Given the description of an element on the screen output the (x, y) to click on. 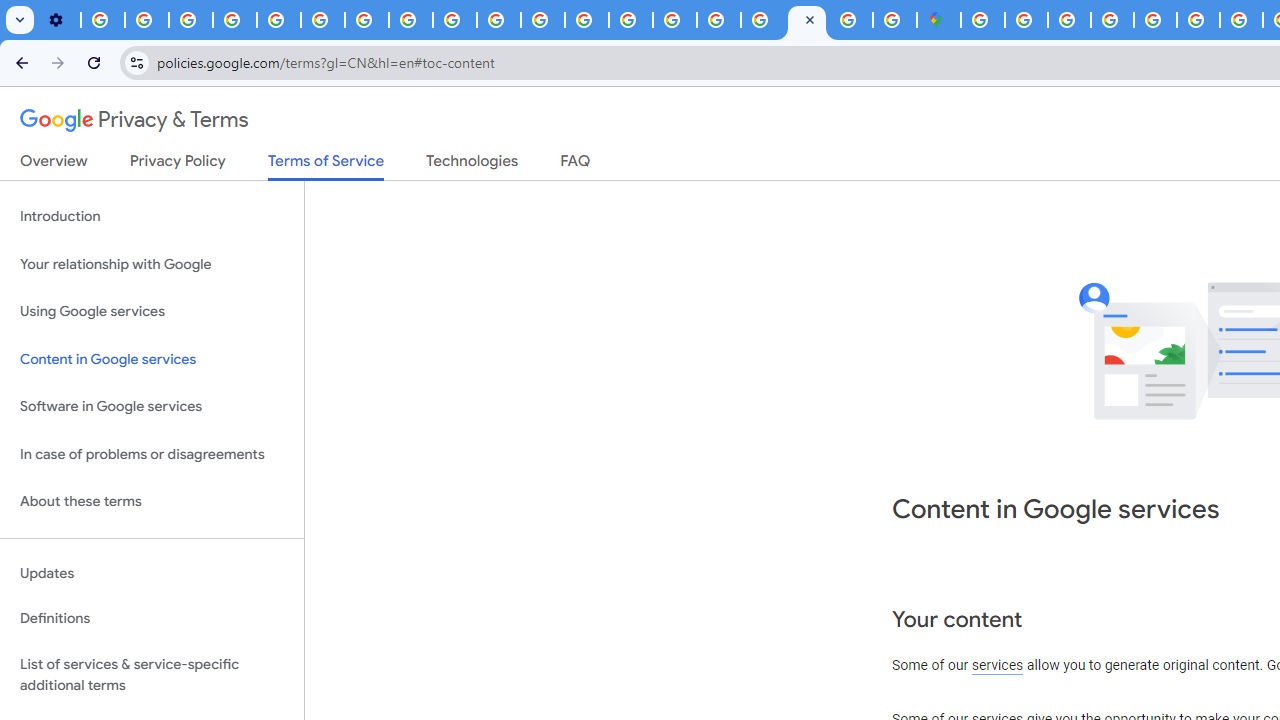
Sign in - Google Accounts (762, 20)
Settings - Customize profile (58, 20)
Privacy Help Center - Policies Help (278, 20)
Delete photos & videos - Computer - Google Photos Help (102, 20)
Software in Google services (152, 407)
Learn how to find your photos - Google Photos Help (146, 20)
About these terms (152, 502)
Privacy Help Center - Policies Help (1241, 20)
